Given the description of an element on the screen output the (x, y) to click on. 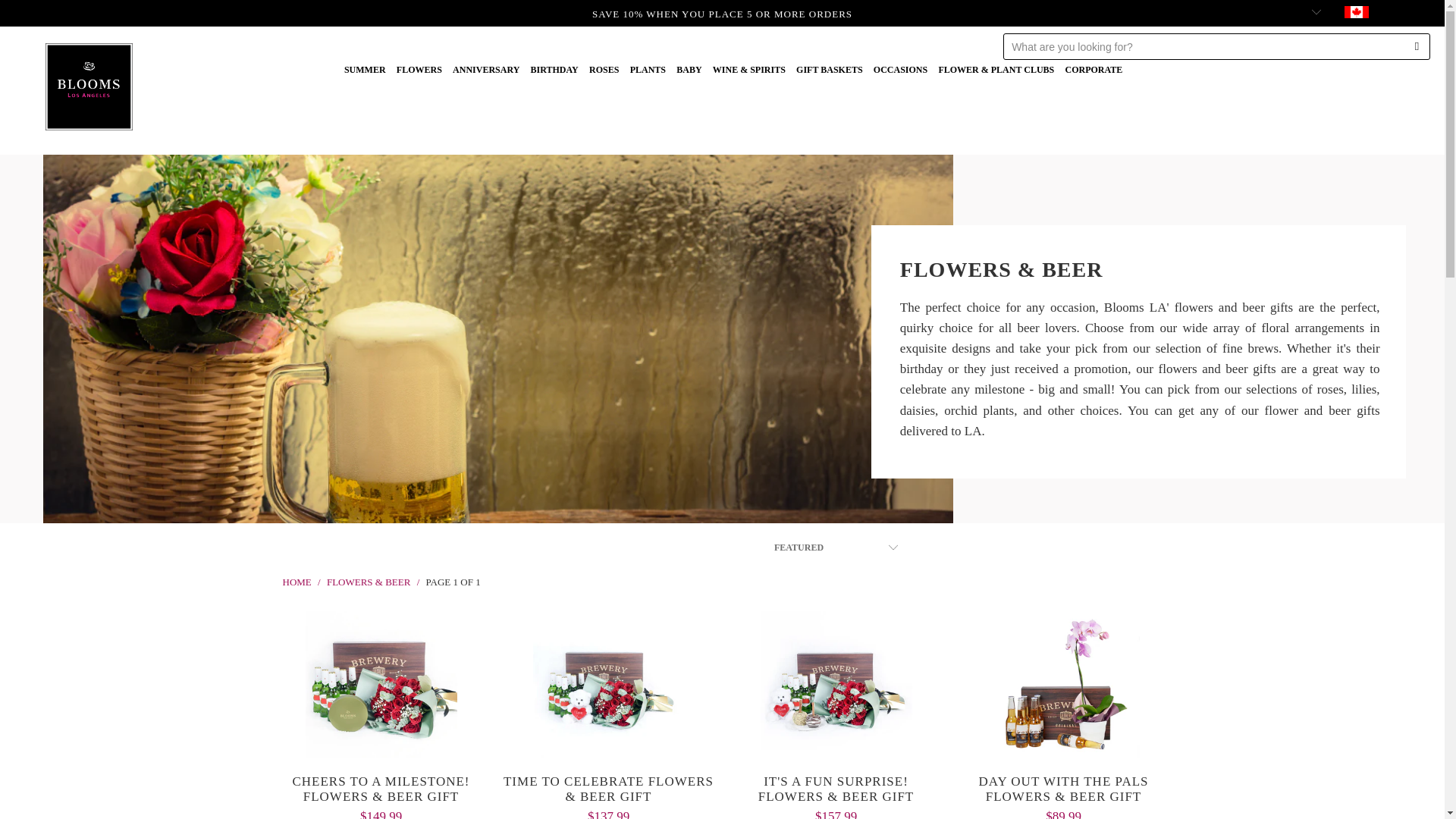
Los Angeles Blooms (88, 86)
Los Angeles Blooms (296, 582)
Los Angeles Blooms (88, 6)
